Given the description of an element on the screen output the (x, y) to click on. 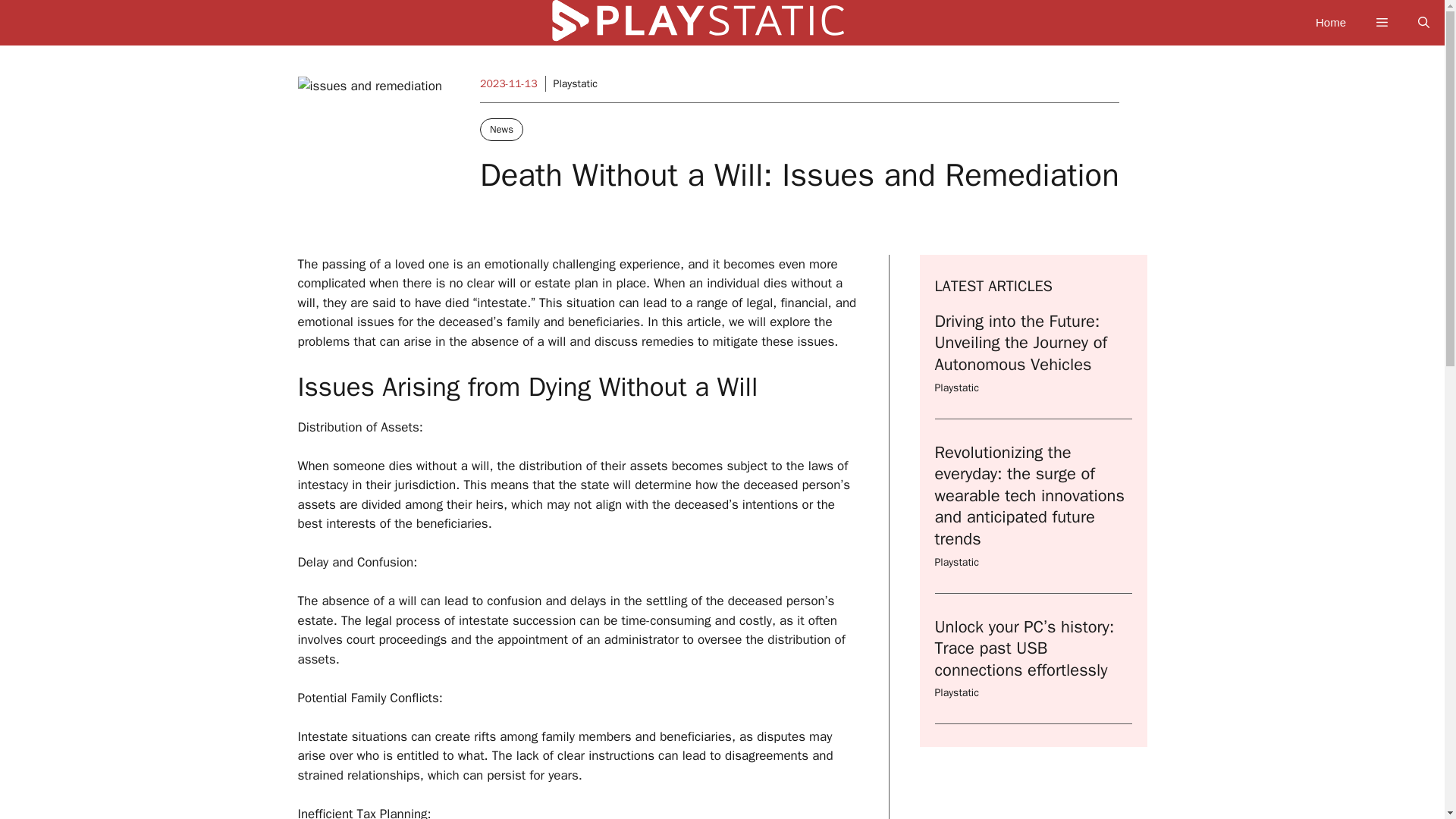
Playstatic (729, 26)
Playstatic (956, 562)
Playstatic (956, 692)
Home (1330, 22)
Playstatic (574, 83)
Playstatic (956, 387)
News (501, 128)
